Given the description of an element on the screen output the (x, y) to click on. 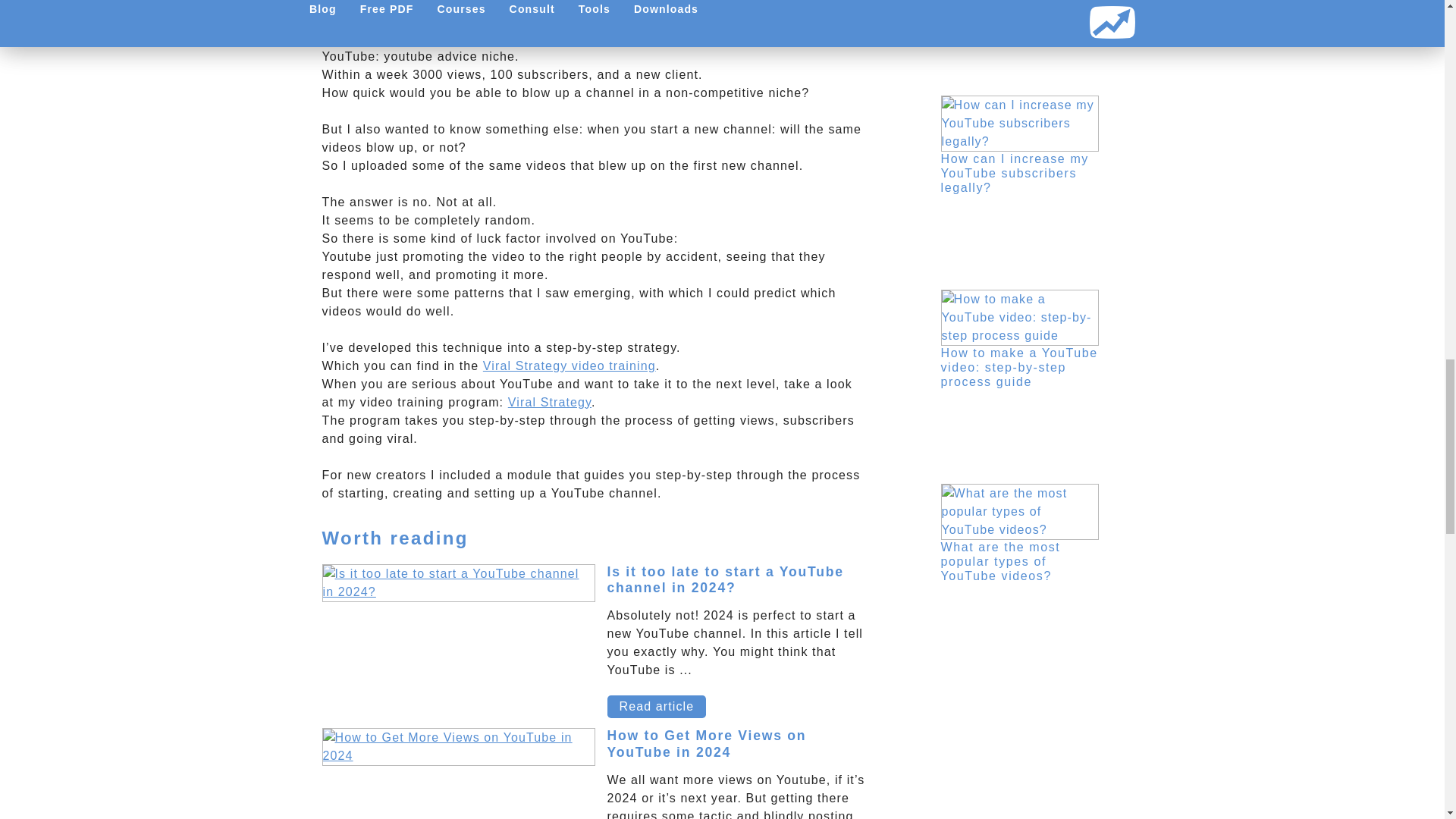
How to Get More Views on YouTube in 2024 (706, 743)
Viral Strategy (549, 401)
Read article (656, 706)
Viral Strategy video training (569, 365)
Is it too late to start a YouTube channel in 2024? (725, 579)
